Given the description of an element on the screen output the (x, y) to click on. 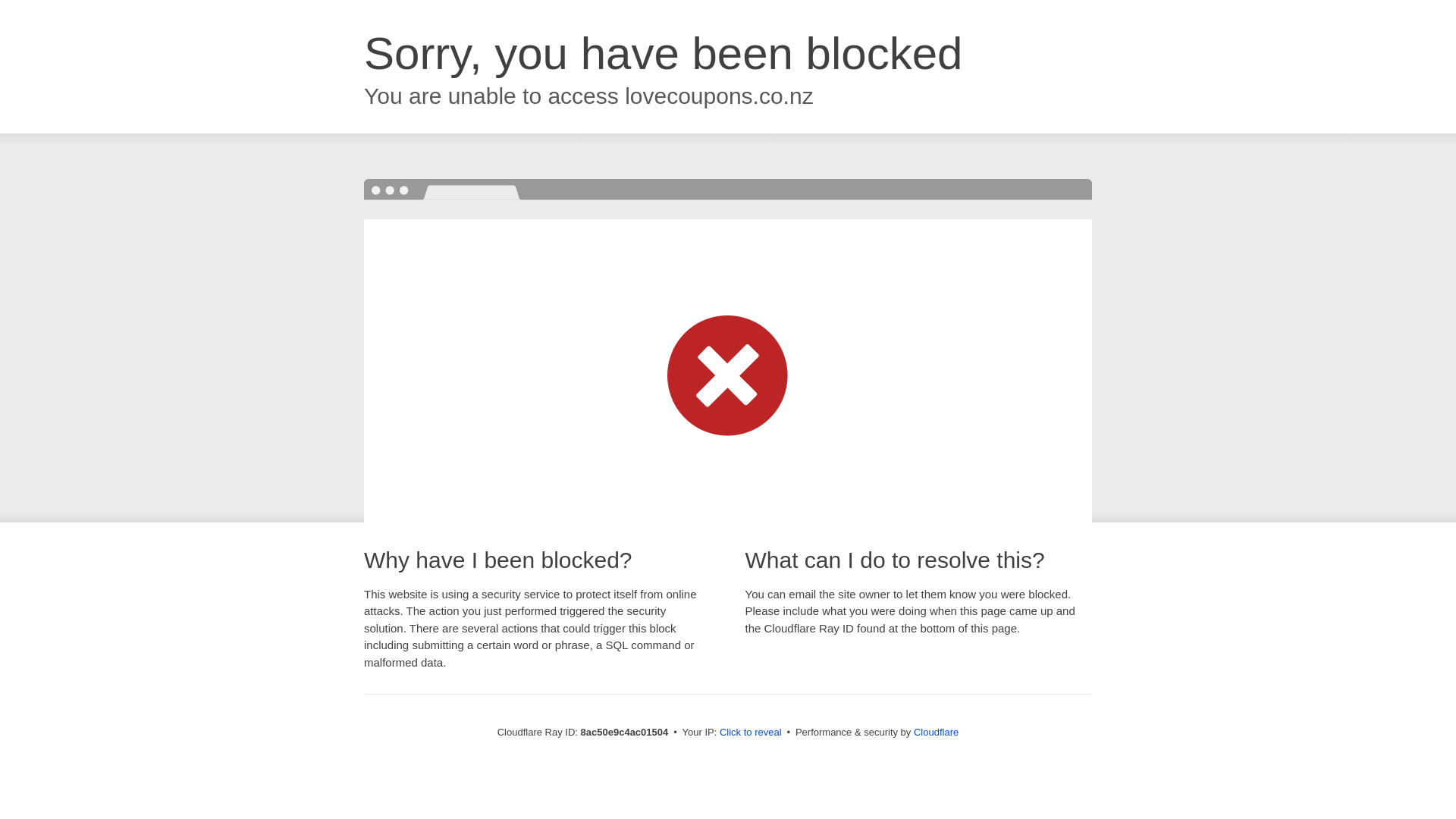
Cloudflare (936, 731)
Click to reveal (750, 732)
